Given the description of an element on the screen output the (x, y) to click on. 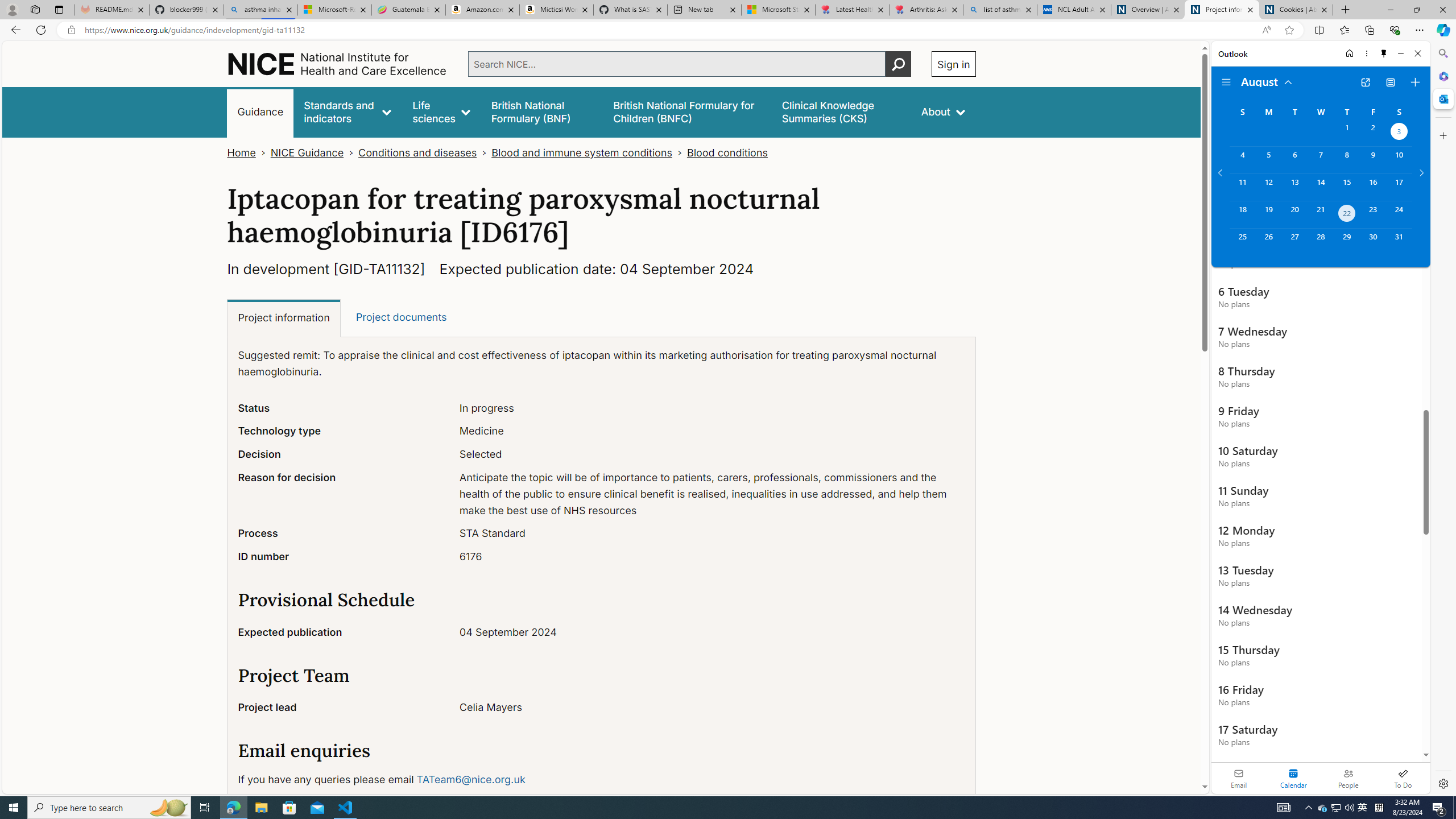
Monday, August 12, 2024.  (1268, 186)
Thursday, August 15, 2024.  (1346, 186)
Sunday, August 11, 2024.  (1242, 186)
Back (13, 29)
NICE Guidance (306, 152)
Monday, August 19, 2024.  (1268, 214)
Cookies | About | NICE (1295, 9)
View Switcher. Current view is Agenda view (1390, 82)
Project information (283, 317)
Project documents (401, 317)
Thursday, August 8, 2024.  (1346, 159)
Read aloud this page (Ctrl+Shift+U) (1266, 29)
